Given the description of an element on the screen output the (x, y) to click on. 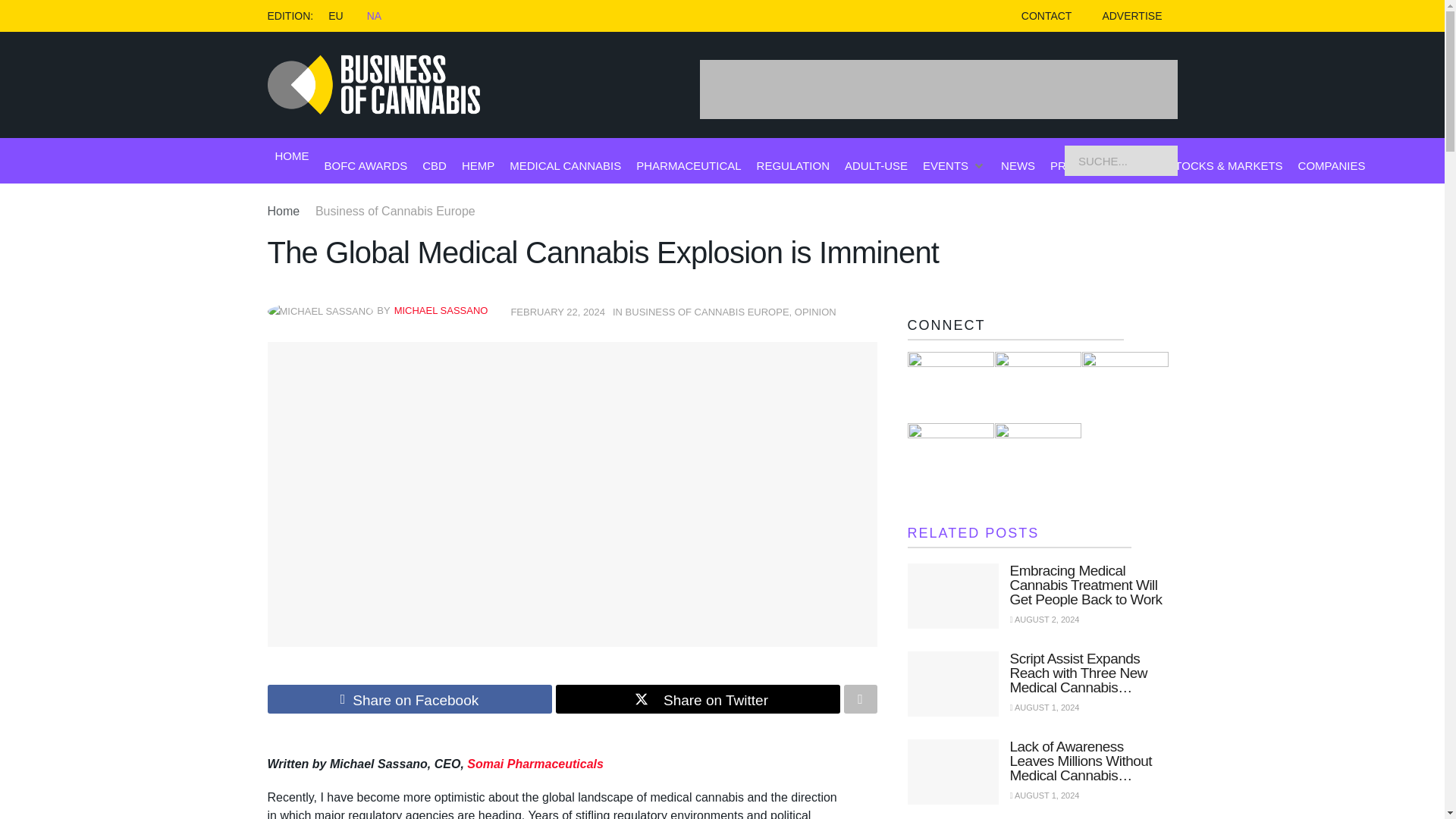
NEWS (1018, 165)
CONTACT (1046, 15)
Business of Cannabis Europe (395, 210)
HOME (291, 156)
BOFC AWARDS (365, 165)
Share on Twitter (697, 698)
Home (282, 210)
MEDICAL CANNABIS (565, 165)
FEBRUARY 22, 2024 (558, 311)
EVENTS (945, 165)
Share on Facebook (408, 698)
ADULT-USE (875, 165)
COMPANIES (1331, 165)
CBD (434, 165)
HEMP (478, 165)
